Given the description of an element on the screen output the (x, y) to click on. 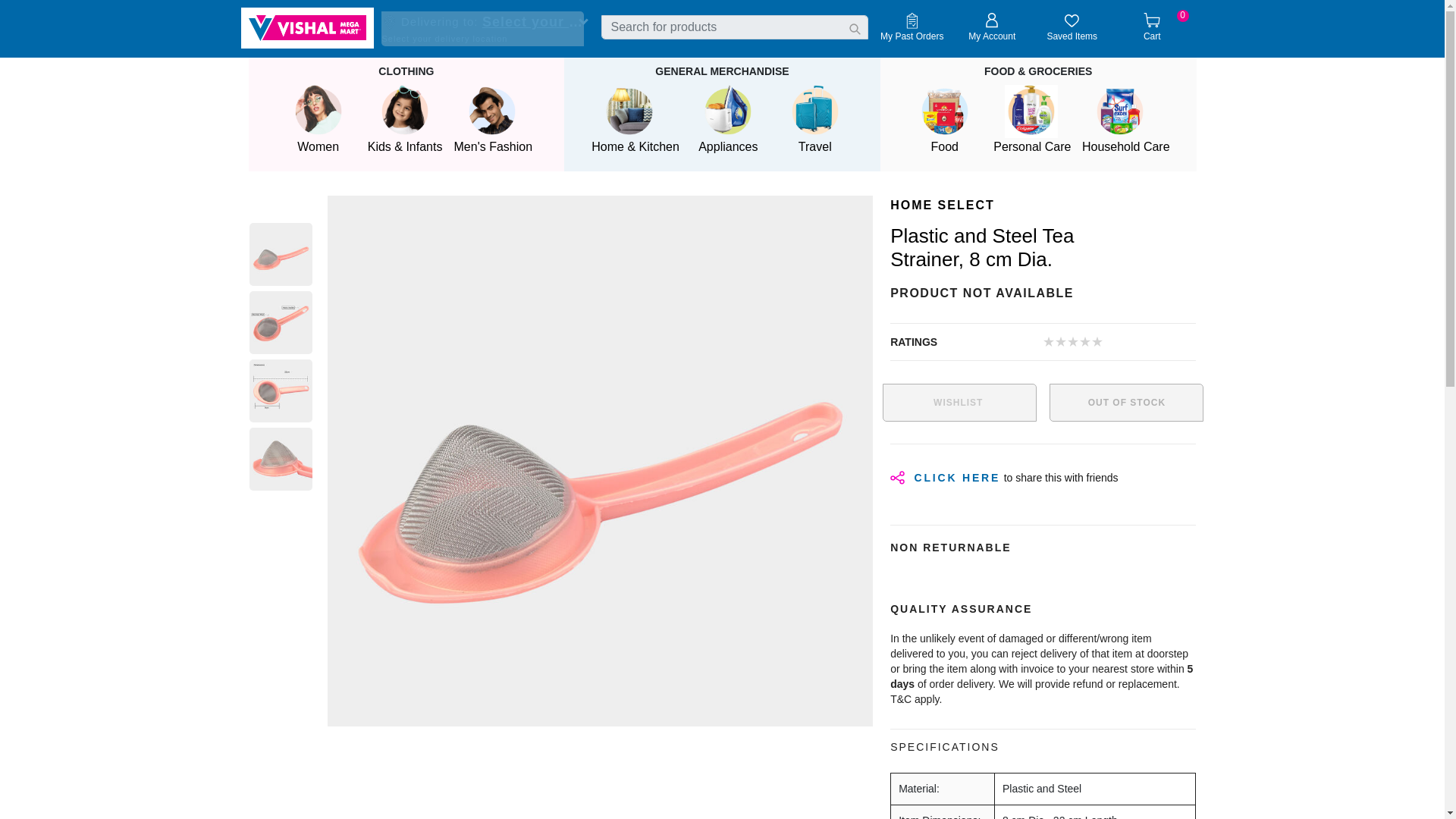
My Account (991, 28)
My Past Orders (1152, 28)
Saved Items (911, 28)
Women (1071, 28)
wishlist.count (317, 120)
Select location, undefined (1071, 28)
Vishal Mega Mart Home (532, 22)
Cart 0 Items (307, 27)
